Given the description of an element on the screen output the (x, y) to click on. 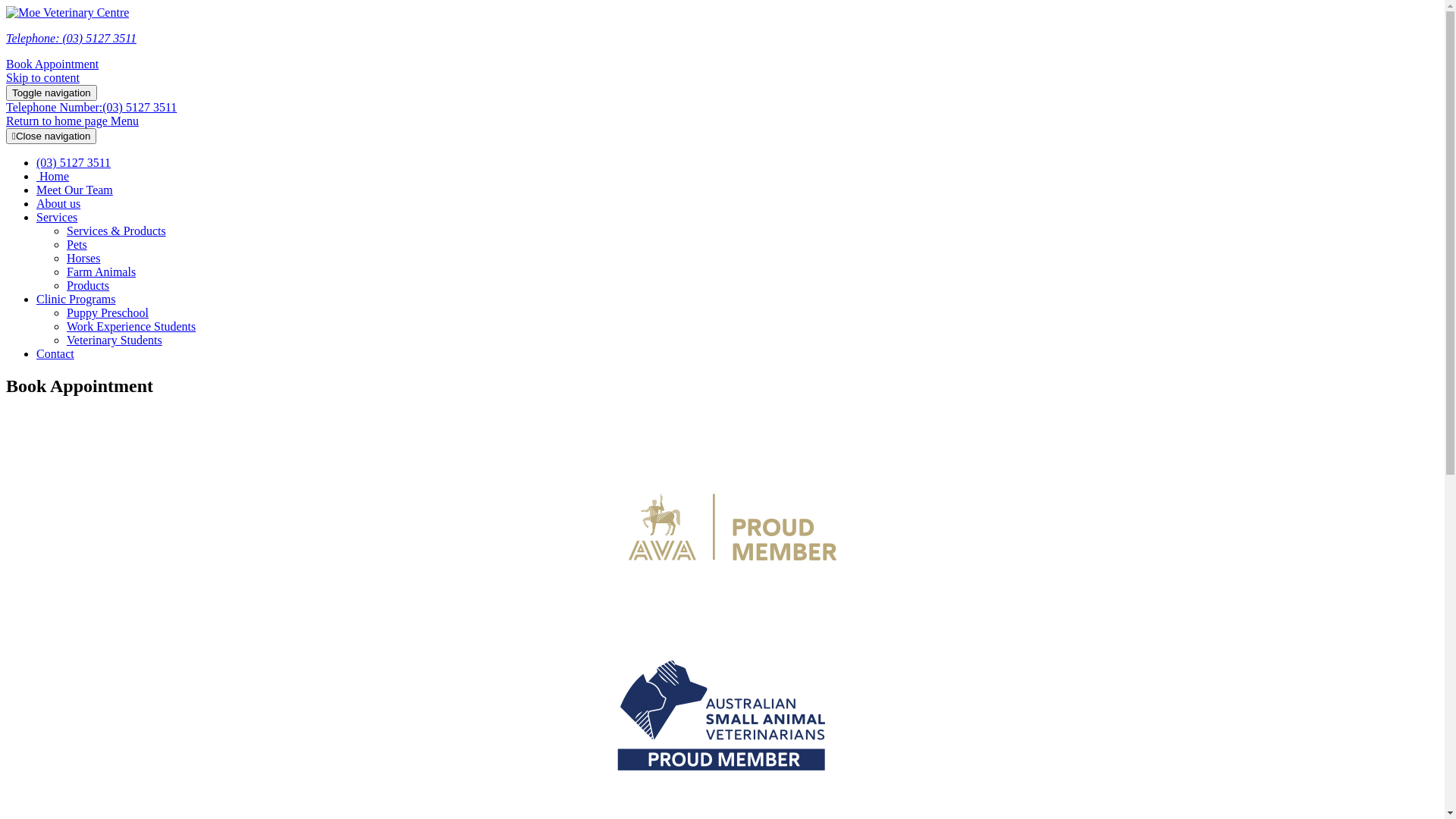
Skip to content Element type: text (42, 77)
home Element type: hover (67, 12)
View Element type: hover (721, 574)
Meet Our Team Element type: text (74, 189)
Farm Animals Element type: text (100, 271)
About us Element type: text (58, 203)
Telephone: (03) 5127 3511 Element type: text (71, 37)
Puppy Preschool Element type: text (107, 312)
Services Element type: text (56, 216)
(03) 5127 3511 Element type: text (73, 162)
Work Experience Students Element type: text (130, 326)
Menu Element type: text (124, 120)
Products Element type: text (87, 285)
 Home Element type: text (52, 175)
Contact Element type: text (55, 353)
View Element type: hover (721, 765)
Telephone Number:(03) 5127 3511 Element type: text (91, 106)
Veterinary Students Element type: text (114, 339)
Book Appointment Element type: text (52, 63)
Clinic Programs Element type: text (75, 298)
Return to home page Element type: text (58, 120)
Horses Element type: text (83, 257)
Pets Element type: text (76, 244)
Toggle navigation Element type: text (51, 92)
Services & Products Element type: text (116, 230)
